Given the description of an element on the screen output the (x, y) to click on. 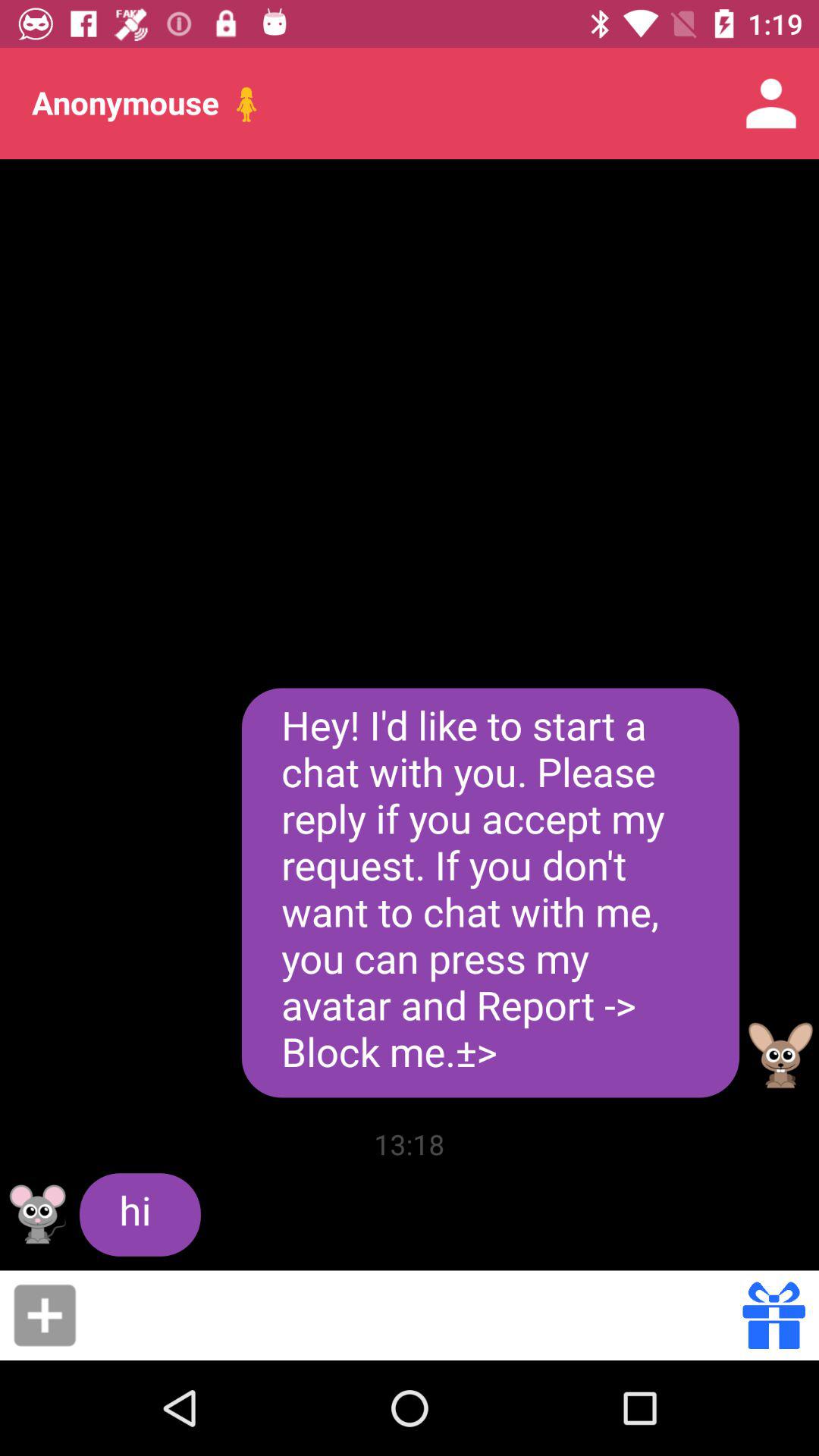
tap the item to the right of hi  item (409, 1144)
